Given the description of an element on the screen output the (x, y) to click on. 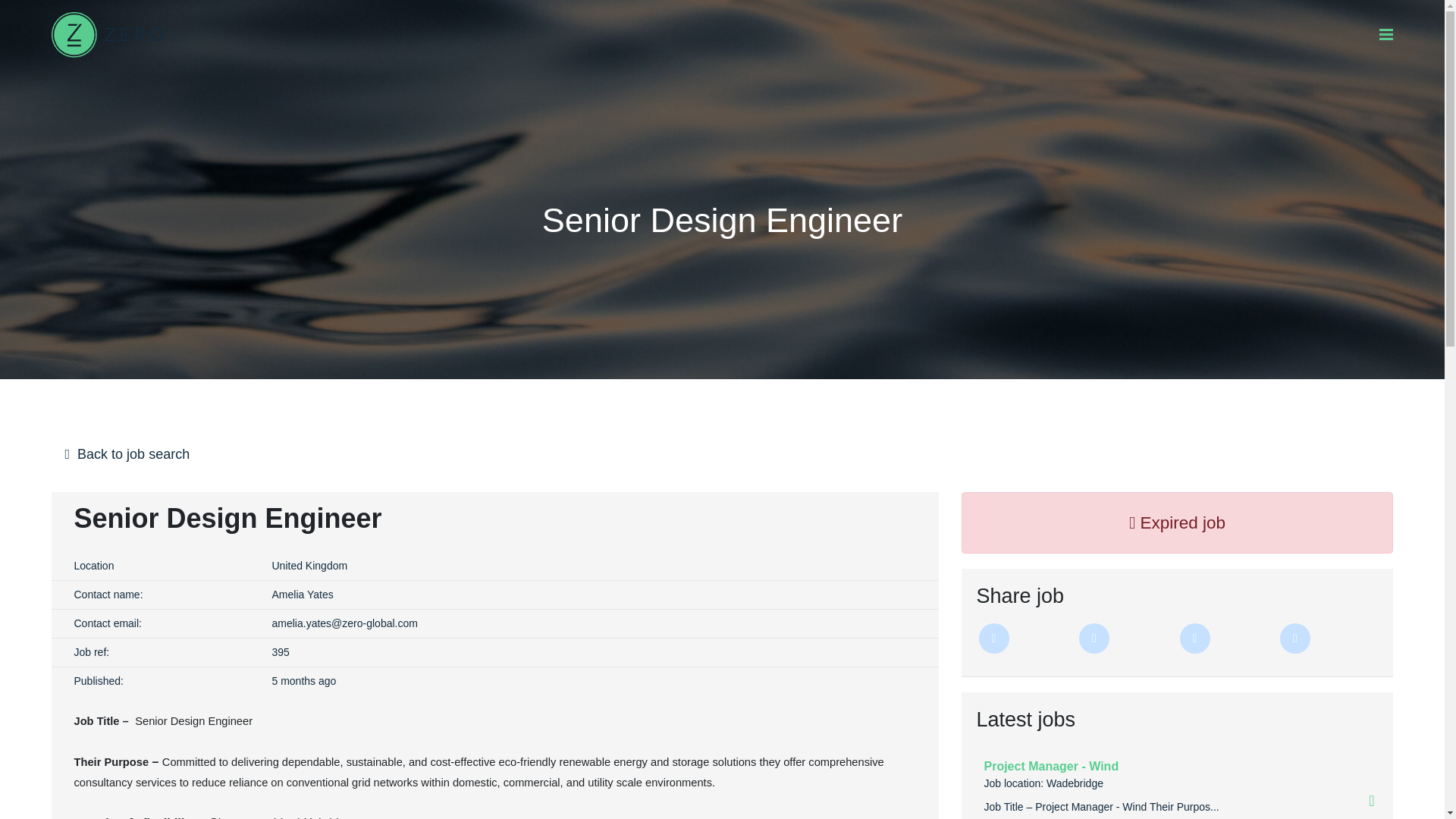
Email (1194, 638)
Back to job search (722, 454)
share on LinkedIn (1093, 638)
send in Whatsapp (1294, 638)
Tweet this (993, 638)
